Given the description of an element on the screen output the (x, y) to click on. 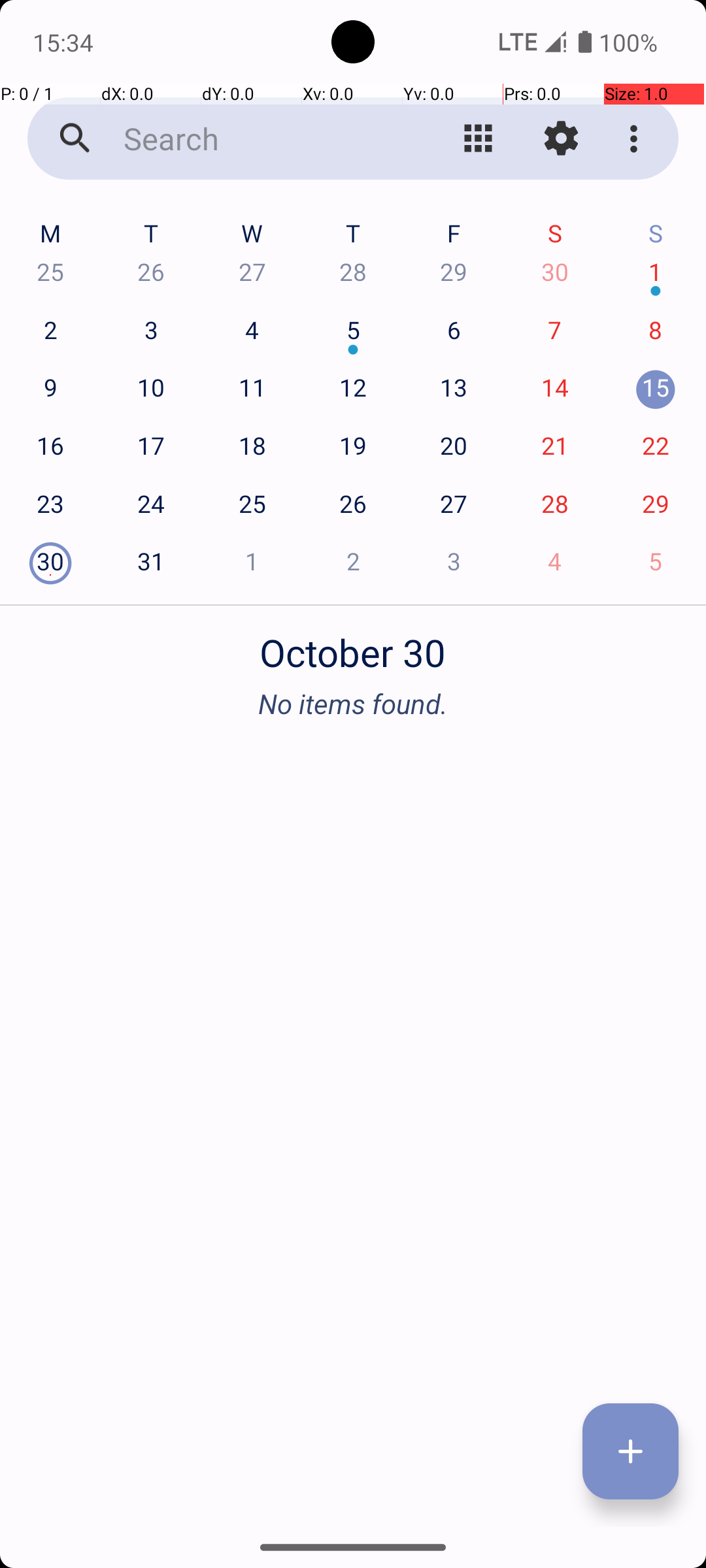
October 30 Element type: android.widget.TextView (352, 644)
